Given the description of an element on the screen output the (x, y) to click on. 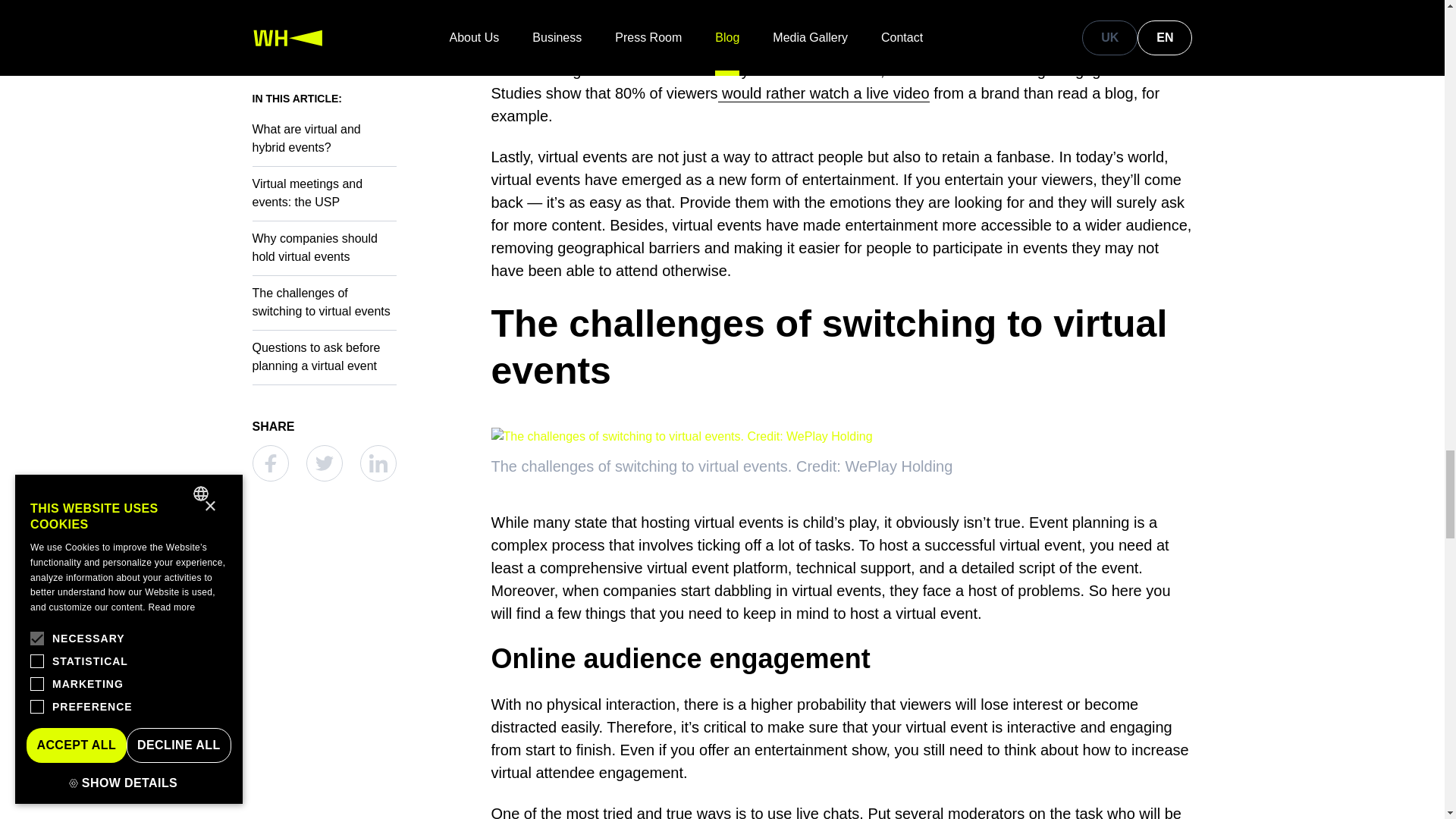
The challenges of switching to virtual events (842, 346)
would rather watch a live video (823, 93)
